Given the description of an element on the screen output the (x, y) to click on. 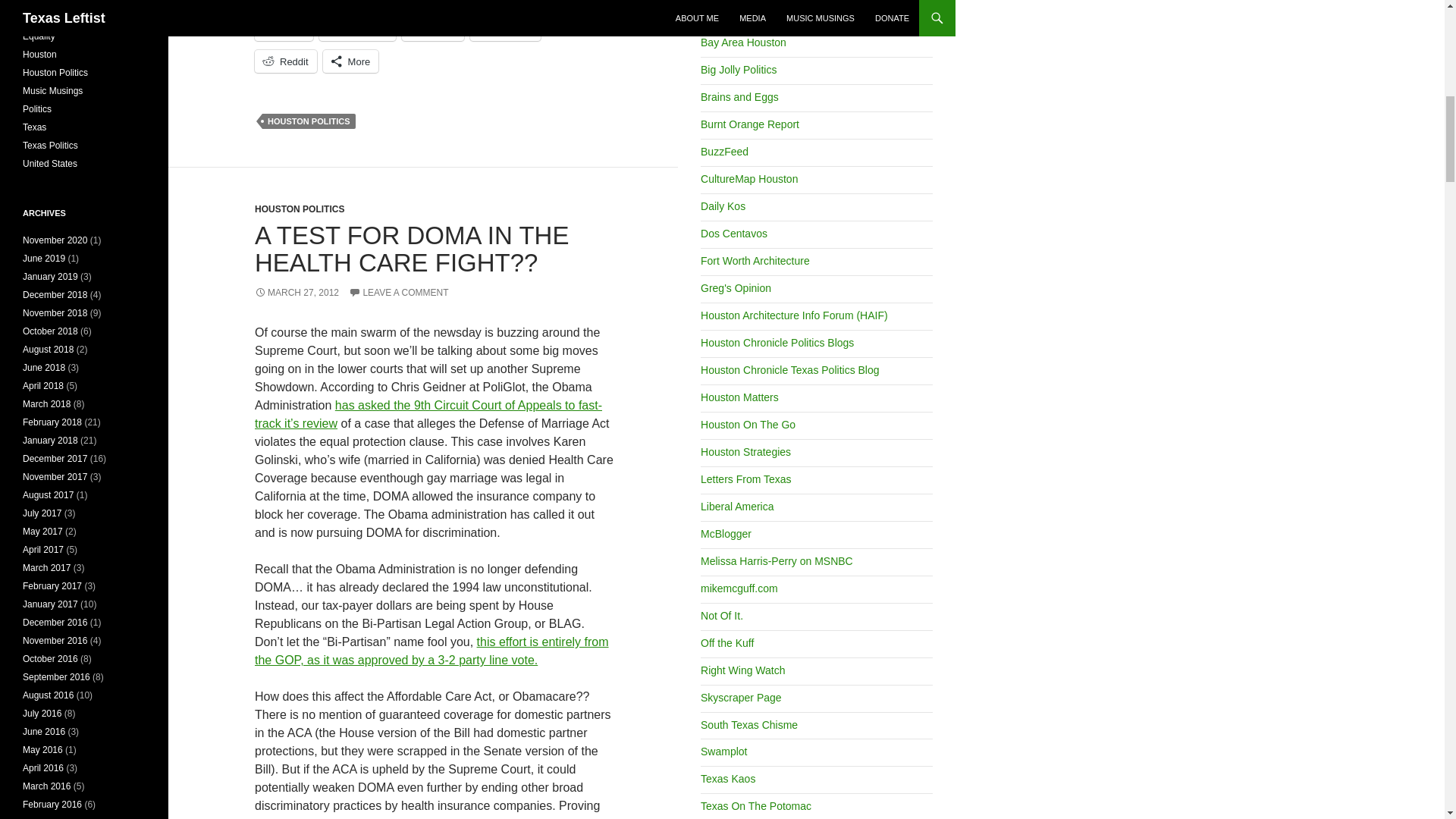
LEAVE A COMMENT (398, 292)
LinkedIn (505, 29)
A TEST FOR DOMA IN THE HEALTH CARE FIGHT?? (411, 248)
MARCH 27, 2012 (296, 292)
HOUSTON POLITICS (298, 208)
Click to email a link to a friend (283, 29)
HOUSTON POLITICS (308, 120)
Email (283, 29)
More (350, 60)
